Given the description of an element on the screen output the (x, y) to click on. 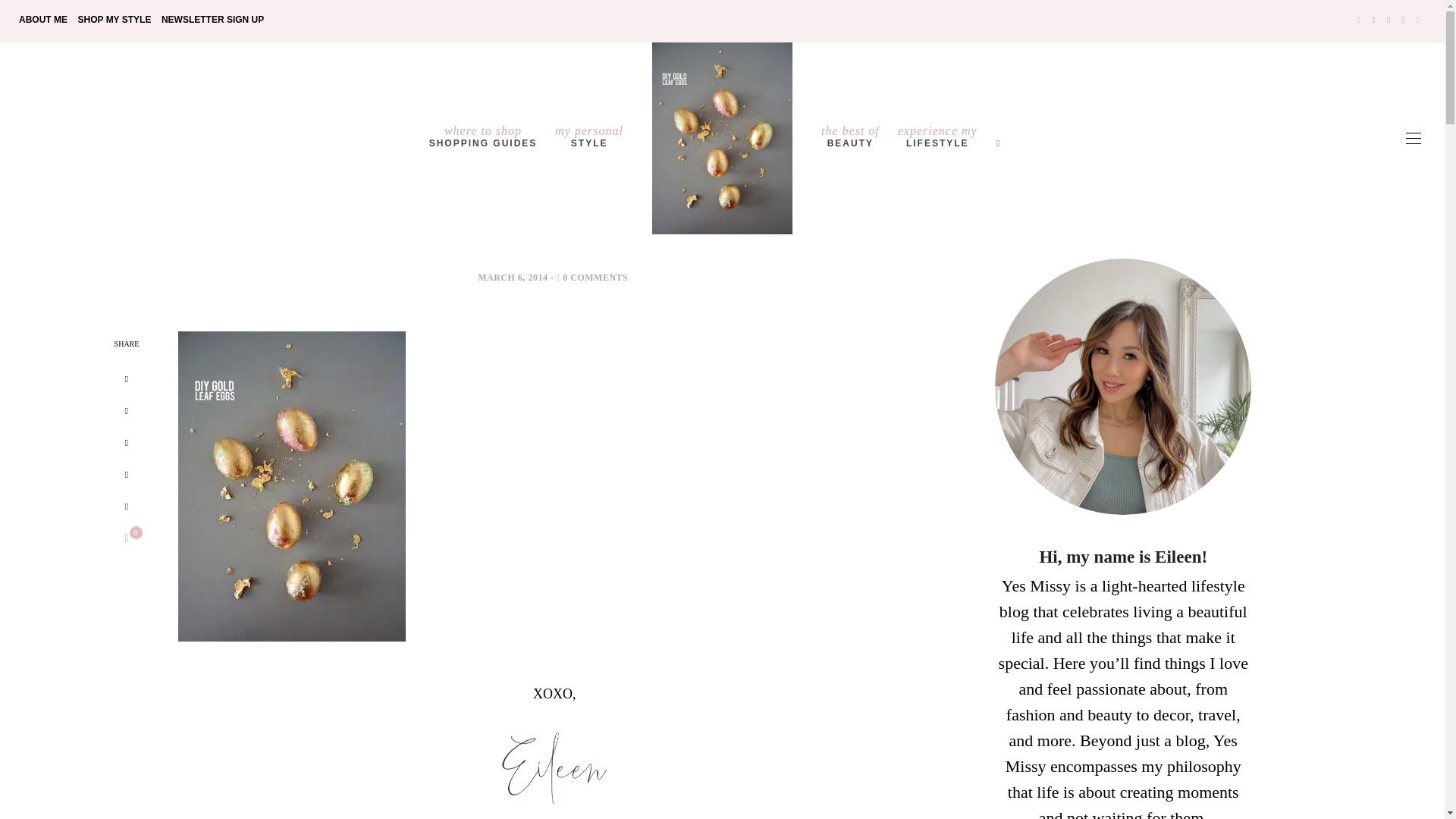
signature (554, 765)
ABOUT ME (42, 19)
SHOP MY STYLE (114, 19)
NEWSLETTER SIGN UP (212, 19)
Like this (483, 137)
